Given the description of an element on the screen output the (x, y) to click on. 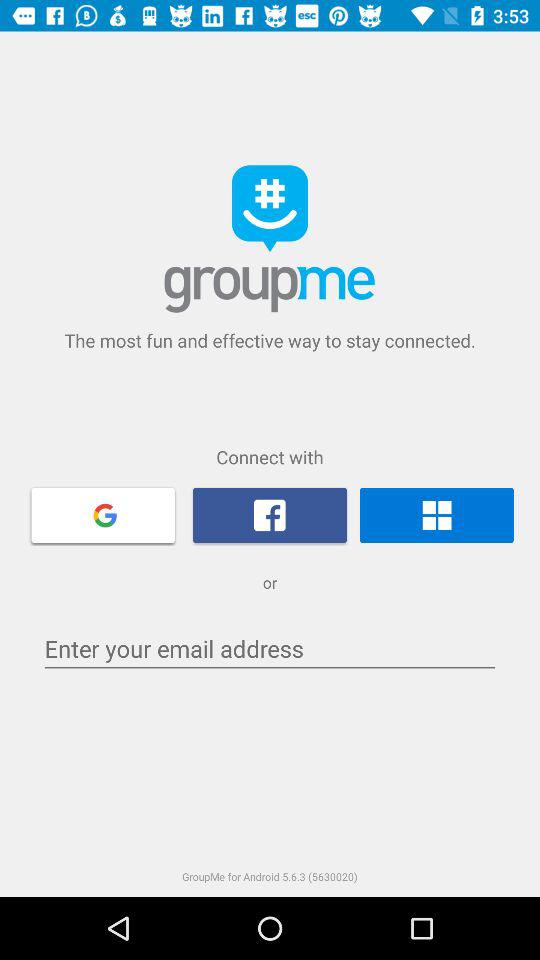
open the item below connect with item (103, 513)
